Given the description of an element on the screen output the (x, y) to click on. 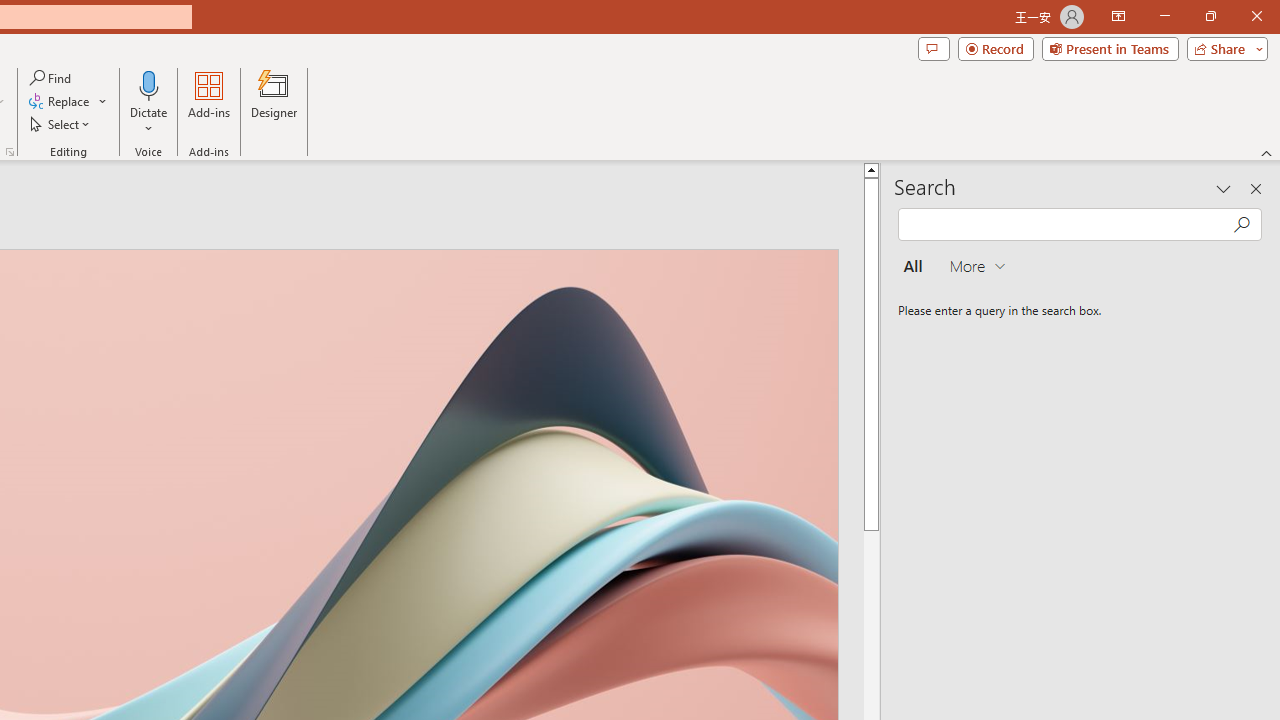
Replace... (60, 101)
Close pane (1256, 188)
Task Pane Options (1224, 188)
Dictate (149, 84)
Designer (274, 102)
Find... (51, 78)
Format Object... (9, 151)
